Given the description of an element on the screen output the (x, y) to click on. 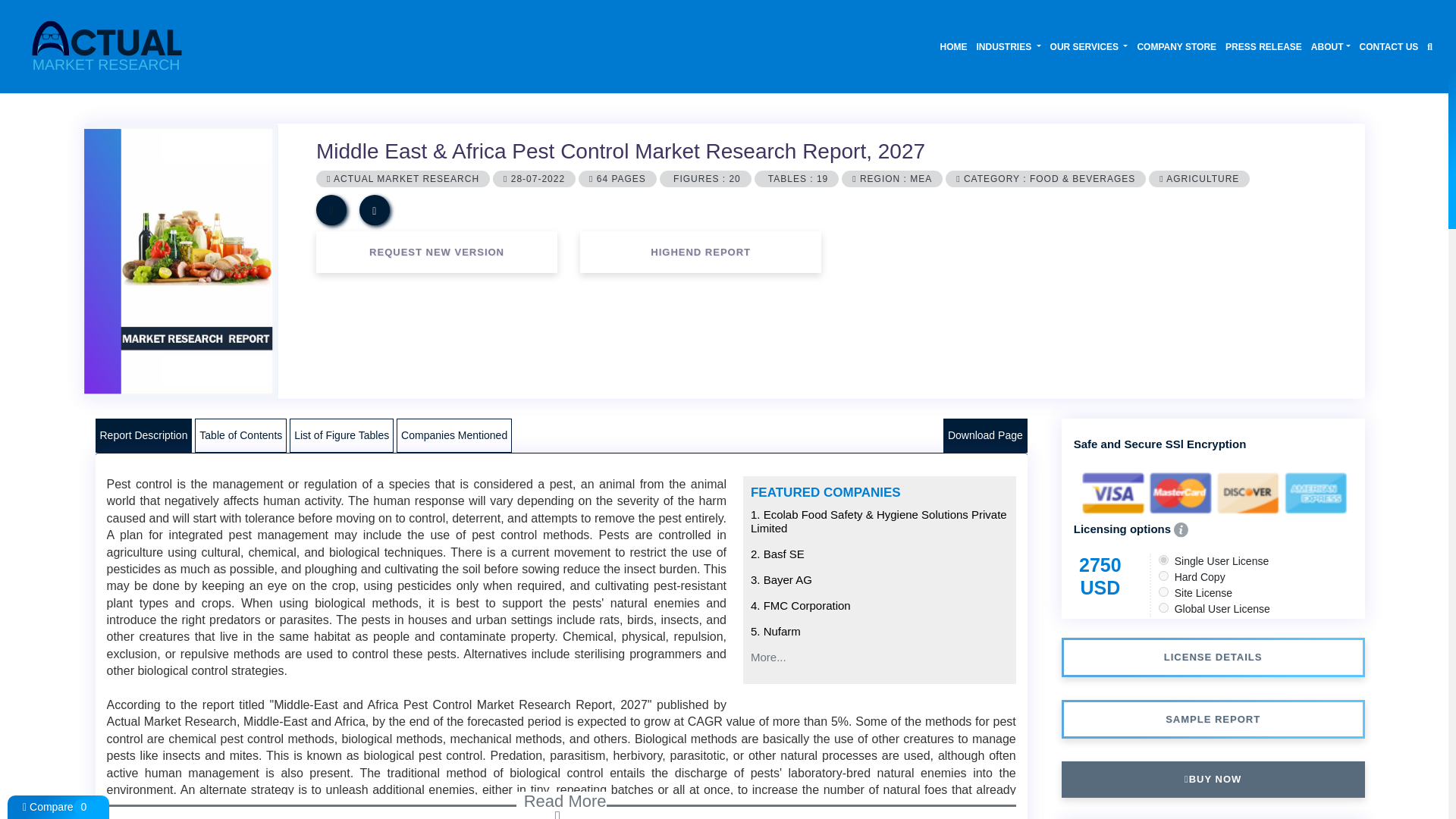
4 (1163, 607)
2 (1163, 575)
3 (1163, 592)
HOME (954, 45)
compare (330, 209)
1 (1163, 560)
INDUSTRIES (1008, 45)
